Given the description of an element on the screen output the (x, y) to click on. 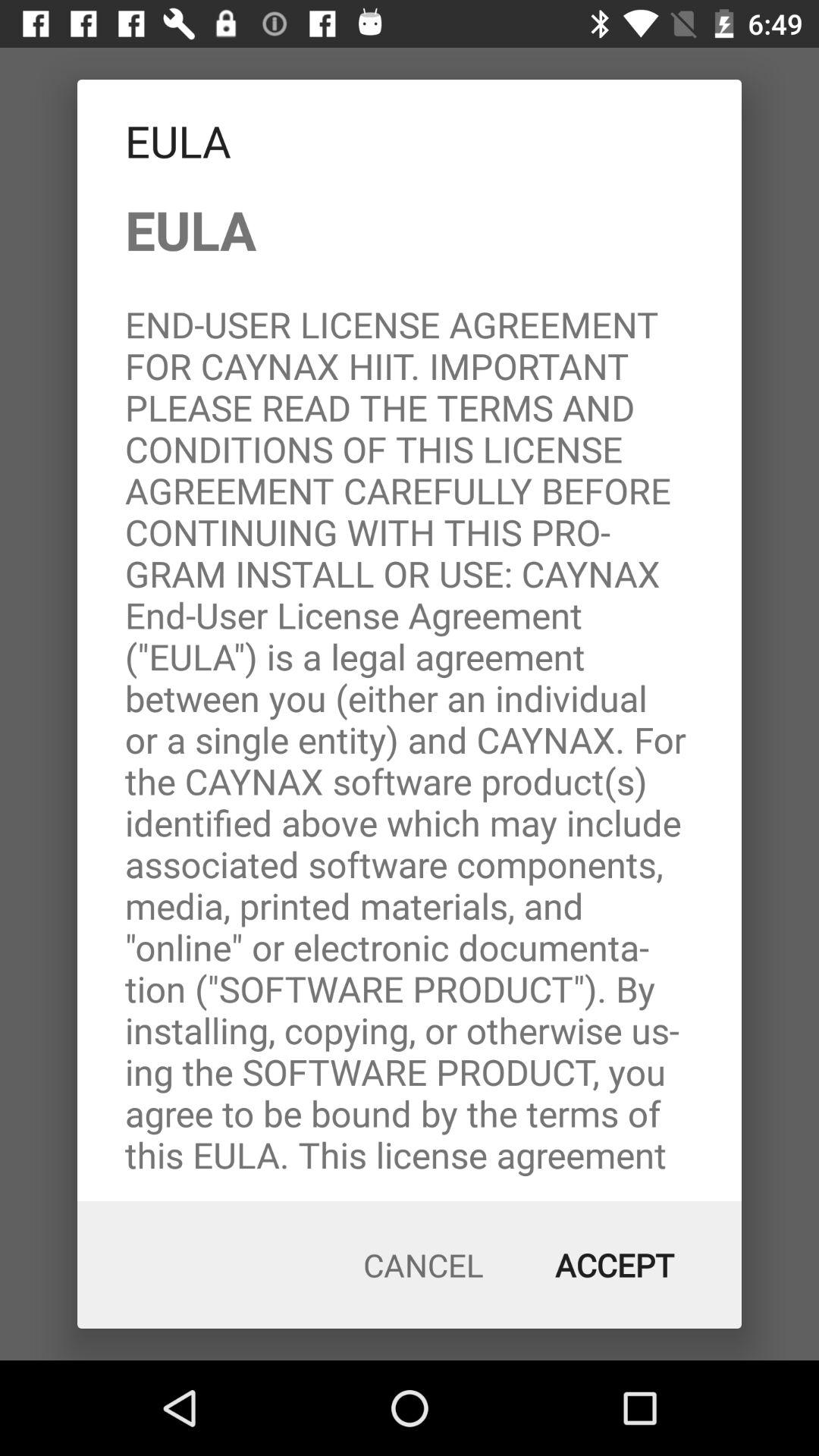
open the item below eula end user item (613, 1264)
